Given the description of an element on the screen output the (x, y) to click on. 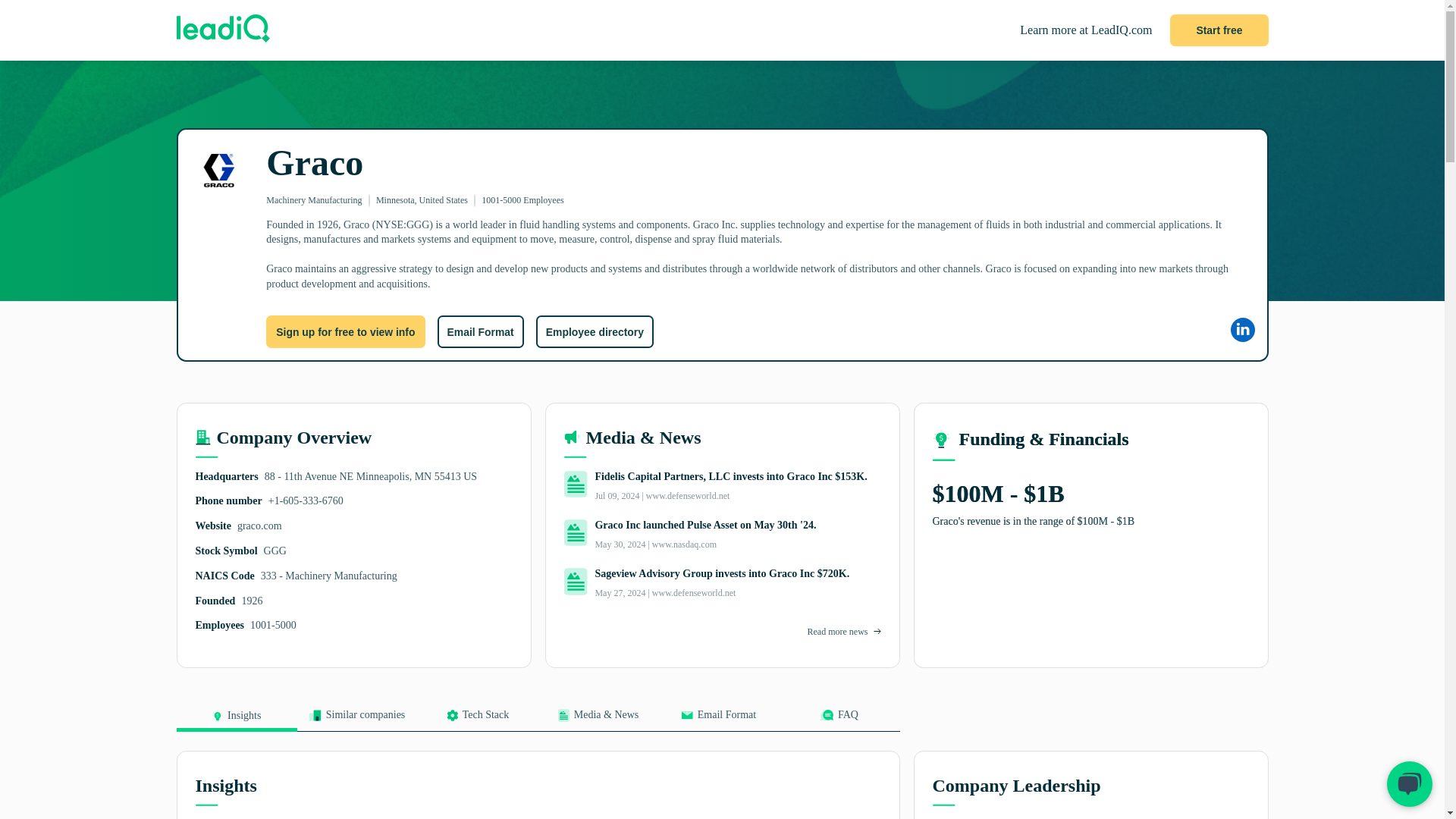
Insights (236, 721)
FAQ (838, 719)
Learn more at LeadIQ.com (1085, 29)
Tech Stack (476, 719)
Employee directory (594, 331)
Email Format (718, 719)
graco.com (259, 525)
Sign up for free to view info (345, 331)
Start free (1219, 29)
Email Format (479, 331)
Similar companies (357, 719)
